Given the description of an element on the screen output the (x, y) to click on. 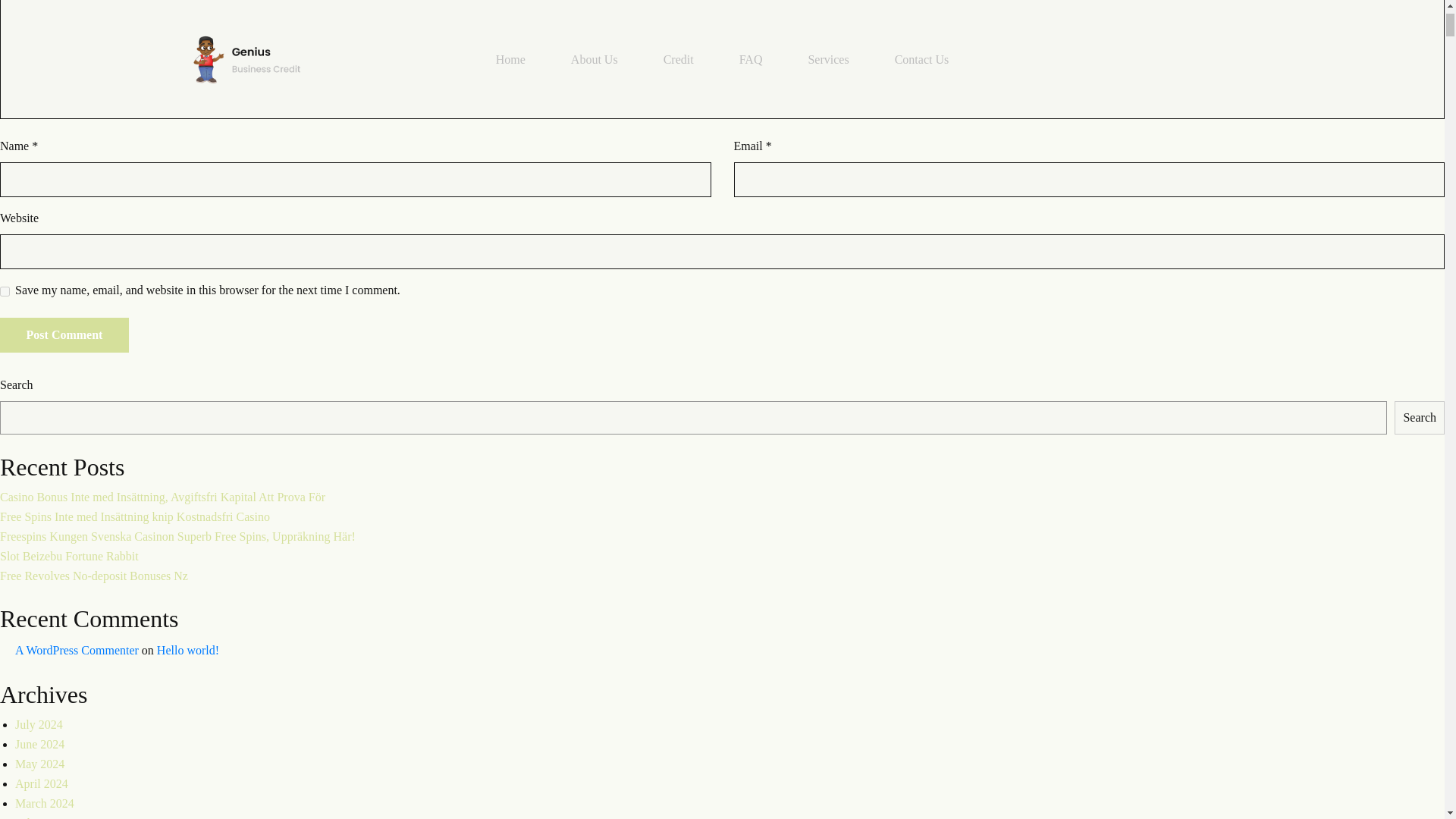
April 2024 (41, 783)
Free Revolves No-deposit Bonuses Nz (93, 575)
Hello world! (188, 649)
July 2024 (38, 724)
May 2024 (39, 763)
Search (1419, 417)
June 2024 (39, 744)
A WordPress Commenter (76, 649)
Post Comment (64, 334)
March 2024 (44, 802)
Post Comment (64, 334)
yes (5, 291)
February 2024 (49, 817)
Slot Beizebu Fortune Rabbit (69, 555)
